Given the description of an element on the screen output the (x, y) to click on. 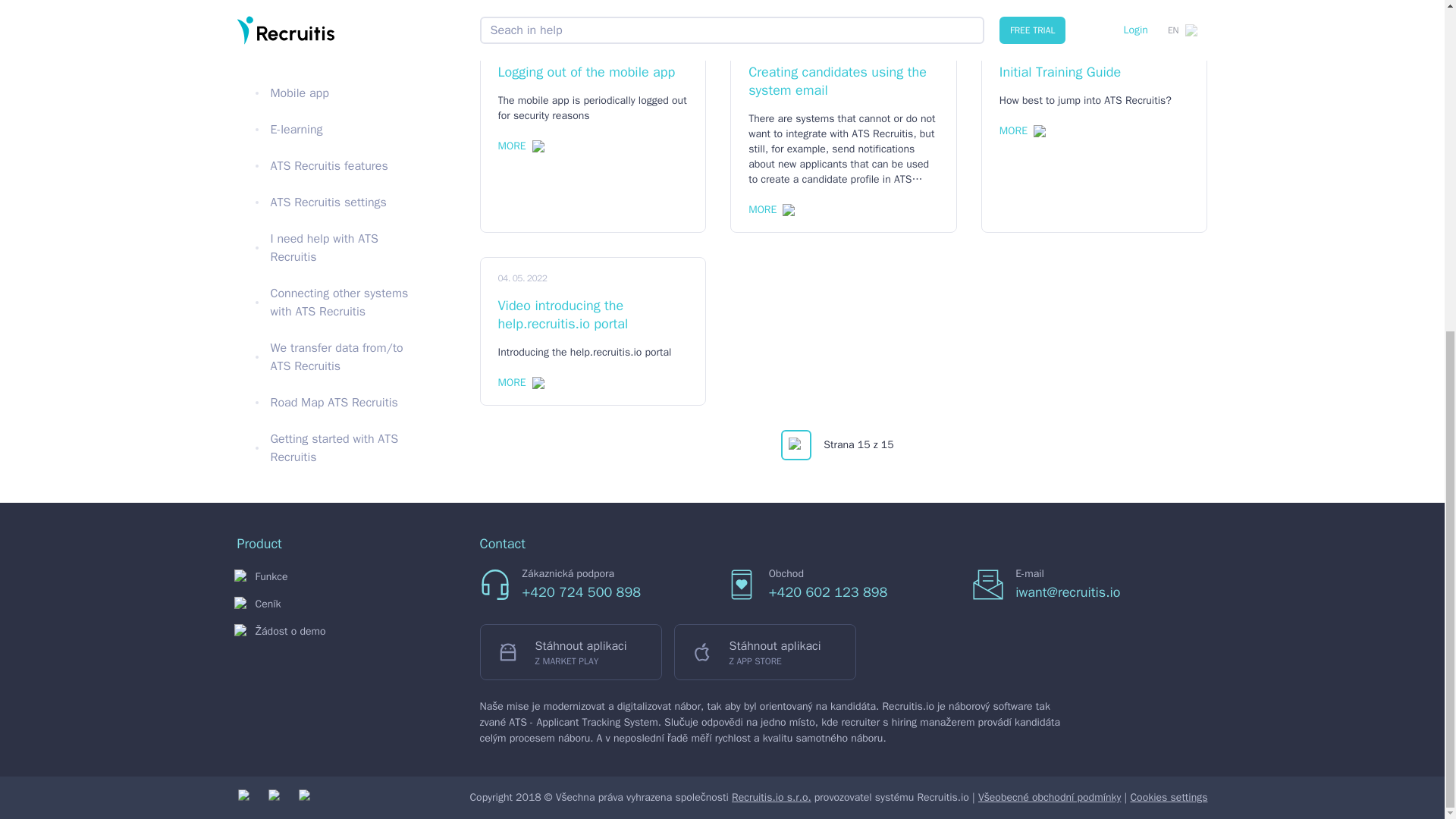
MORE (520, 382)
Creating candidates using the system email (843, 81)
MORE (1021, 130)
MORE (771, 209)
MORE (520, 145)
Video introducing the help.recruitis.io portal (592, 314)
Logging out of the mobile app (592, 72)
Initial Training Guide (1093, 72)
